Given the description of an element on the screen output the (x, y) to click on. 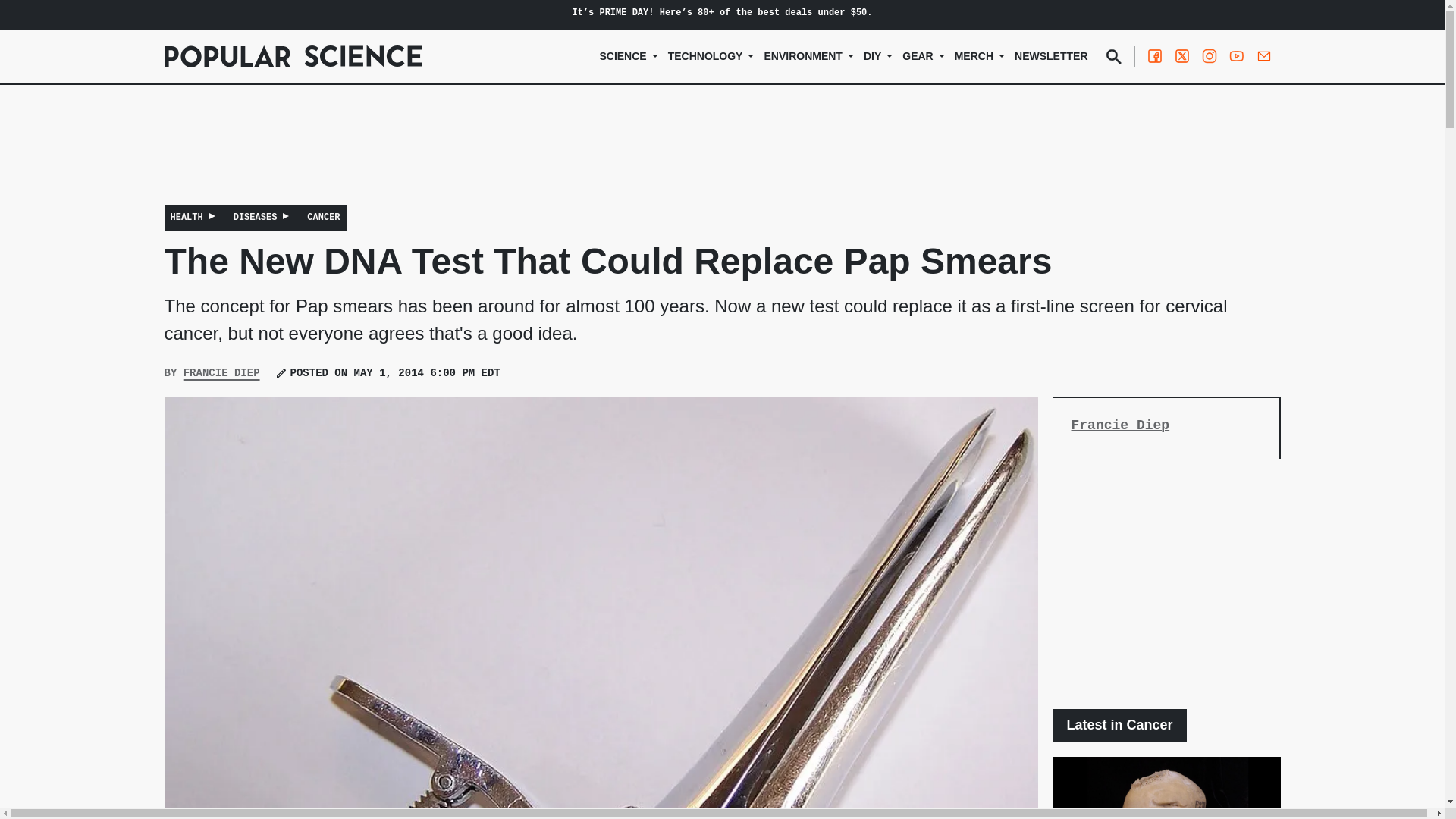
3rd party ad content (721, 155)
3rd party ad content (1165, 583)
I (574, 12)
